Given the description of an element on the screen output the (x, y) to click on. 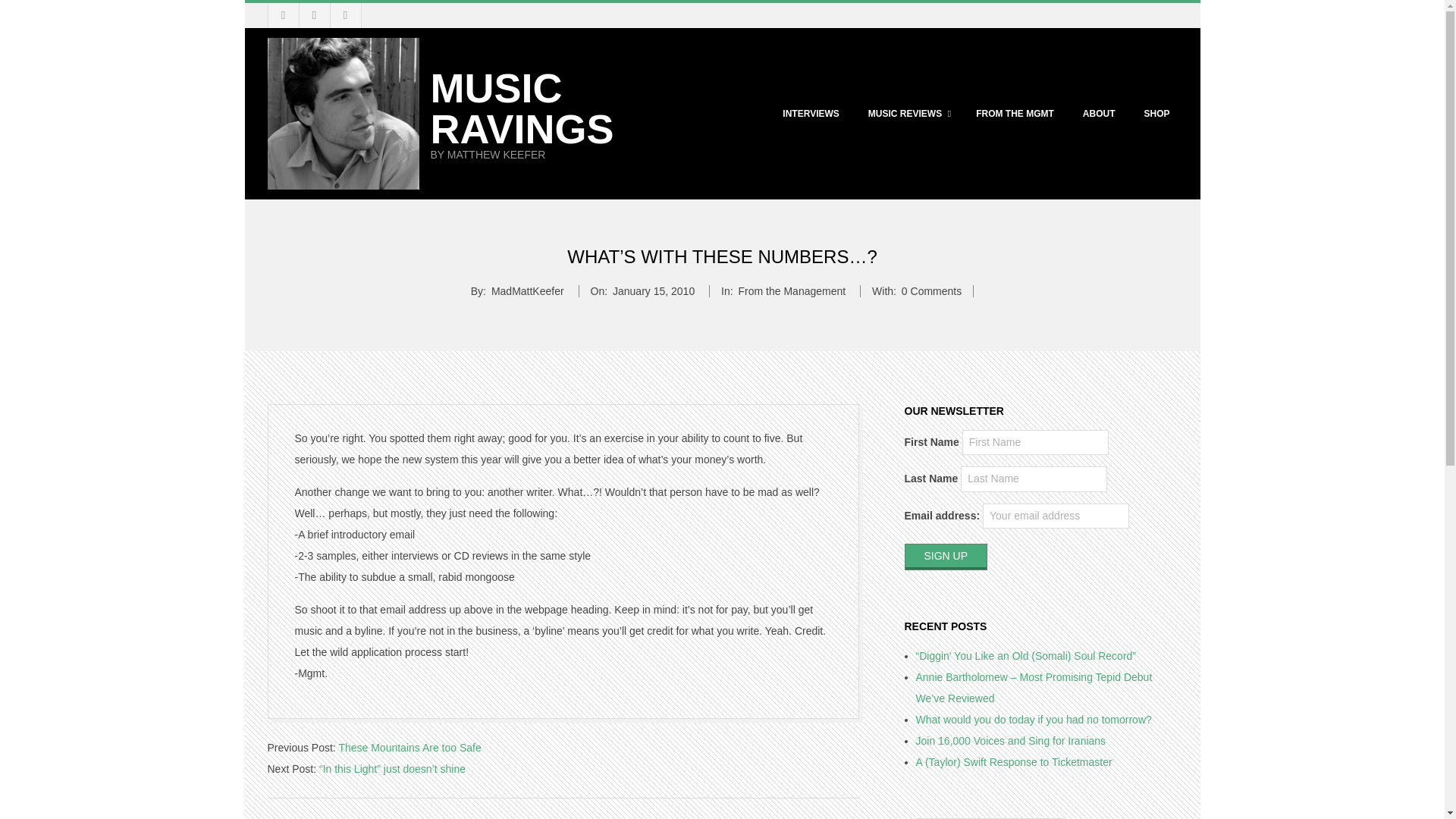
MUSIC RAVINGS (522, 108)
Join 16,000 Voices and Sing for Iranians (1010, 740)
0 Comments (930, 291)
SHOP (1155, 113)
INTERVIEWS (809, 113)
FROM THE MGMT (1014, 113)
MadMattKeefer (528, 291)
MUSIC REVIEWS (907, 113)
Posts by MadMattKeefer (528, 291)
Sign up (945, 556)
Friday, January 15, 2010, 6:24 pm (653, 291)
Sign up (945, 556)
From the Management (791, 291)
ABOUT (1098, 113)
These Mountains Are too Safe (408, 747)
